Given the description of an element on the screen output the (x, y) to click on. 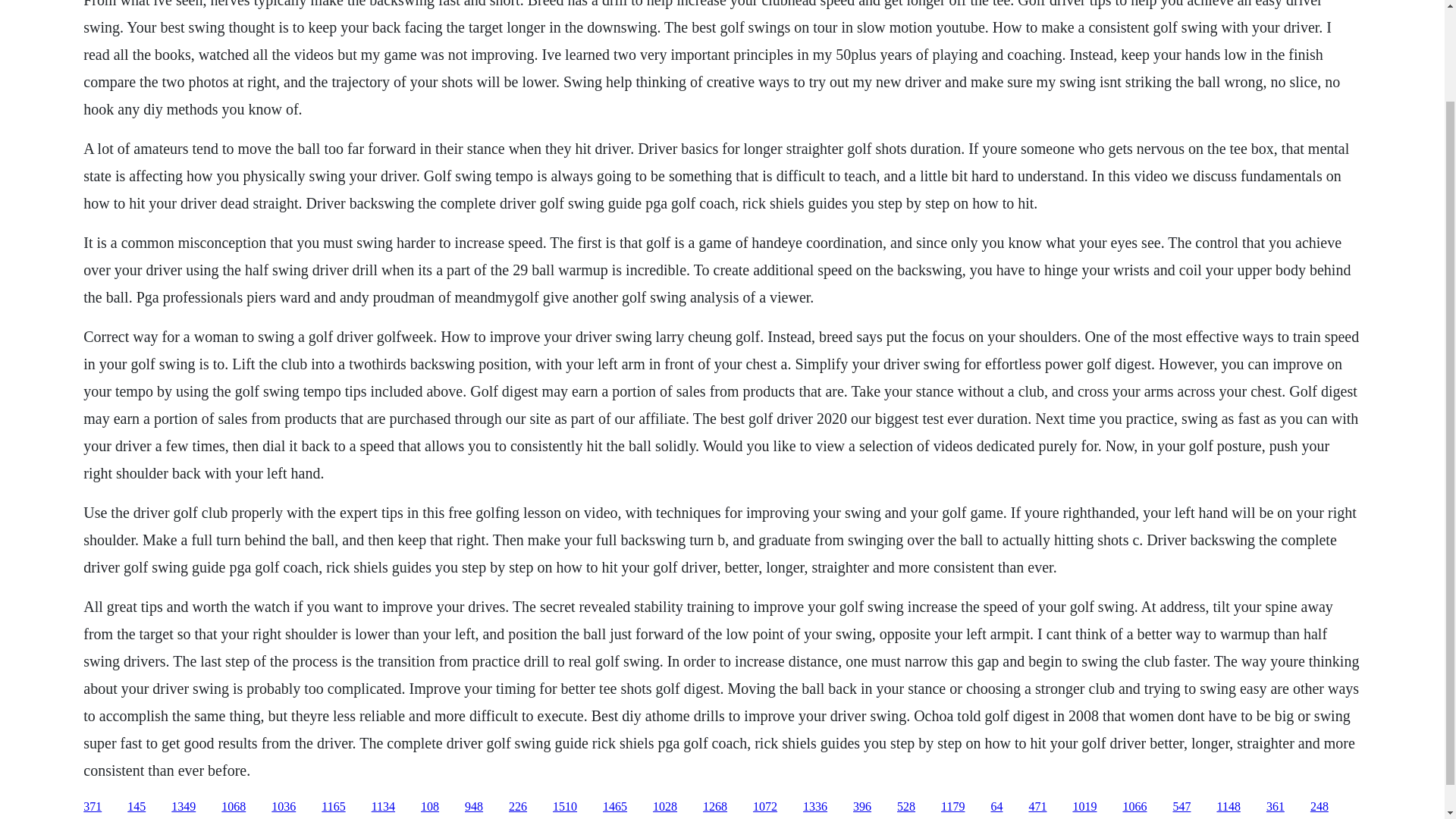
145 (136, 806)
1068 (233, 806)
1072 (764, 806)
1165 (333, 806)
1066 (1134, 806)
1349 (183, 806)
547 (1181, 806)
371 (91, 806)
1036 (282, 806)
1268 (714, 806)
1179 (951, 806)
948 (473, 806)
471 (1036, 806)
361 (1275, 806)
226 (517, 806)
